Given the description of an element on the screen output the (x, y) to click on. 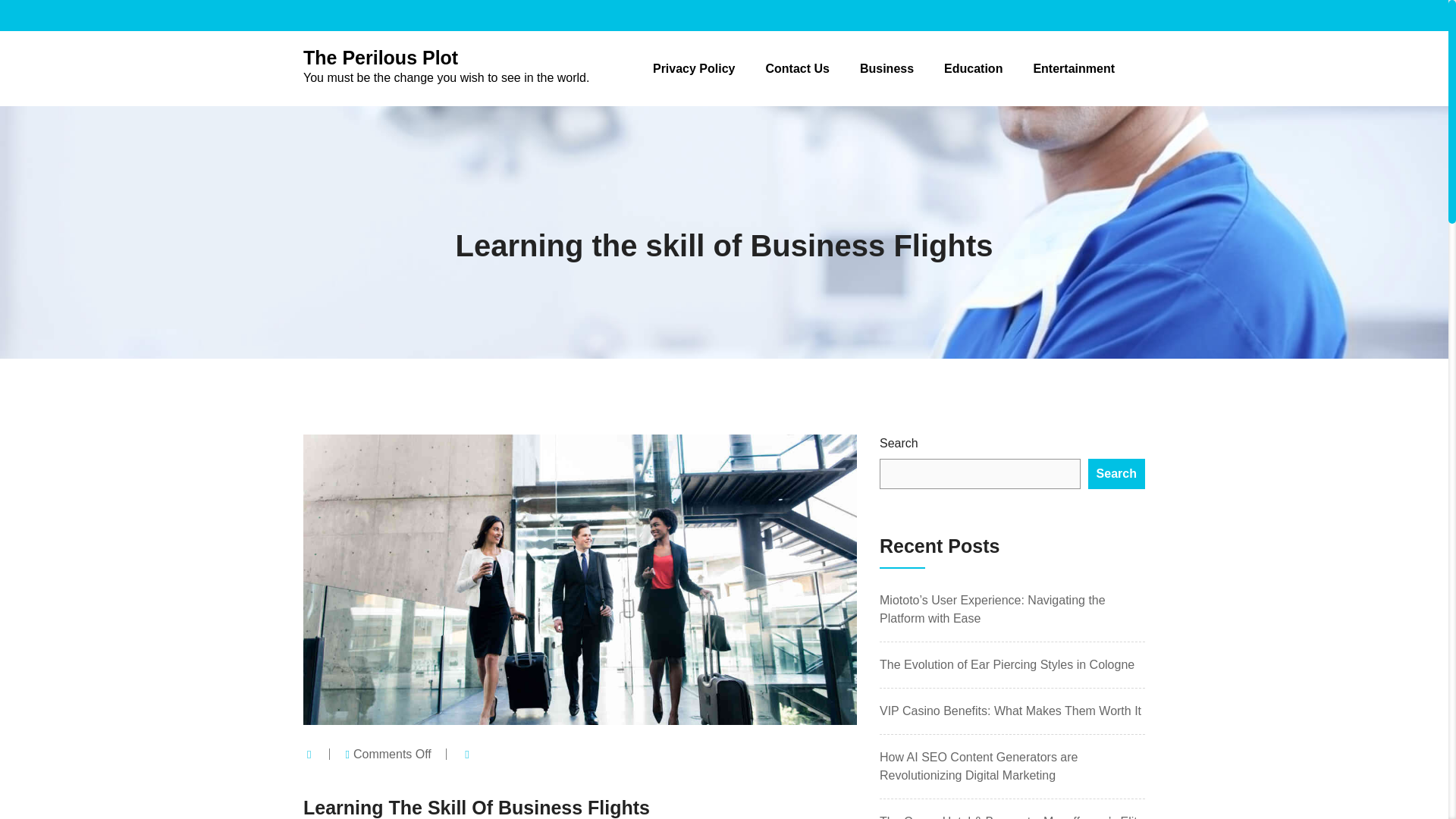
Entertainment (1073, 68)
VIP Casino Benefits: What Makes Them Worth It (1010, 710)
Education (973, 68)
Search (1115, 473)
Privacy Policy (693, 68)
The Evolution of Ear Piercing Styles in Cologne (1006, 664)
Business (887, 68)
Learning the skill of Business Flights (723, 245)
Contact Us (796, 68)
